Given the description of an element on the screen output the (x, y) to click on. 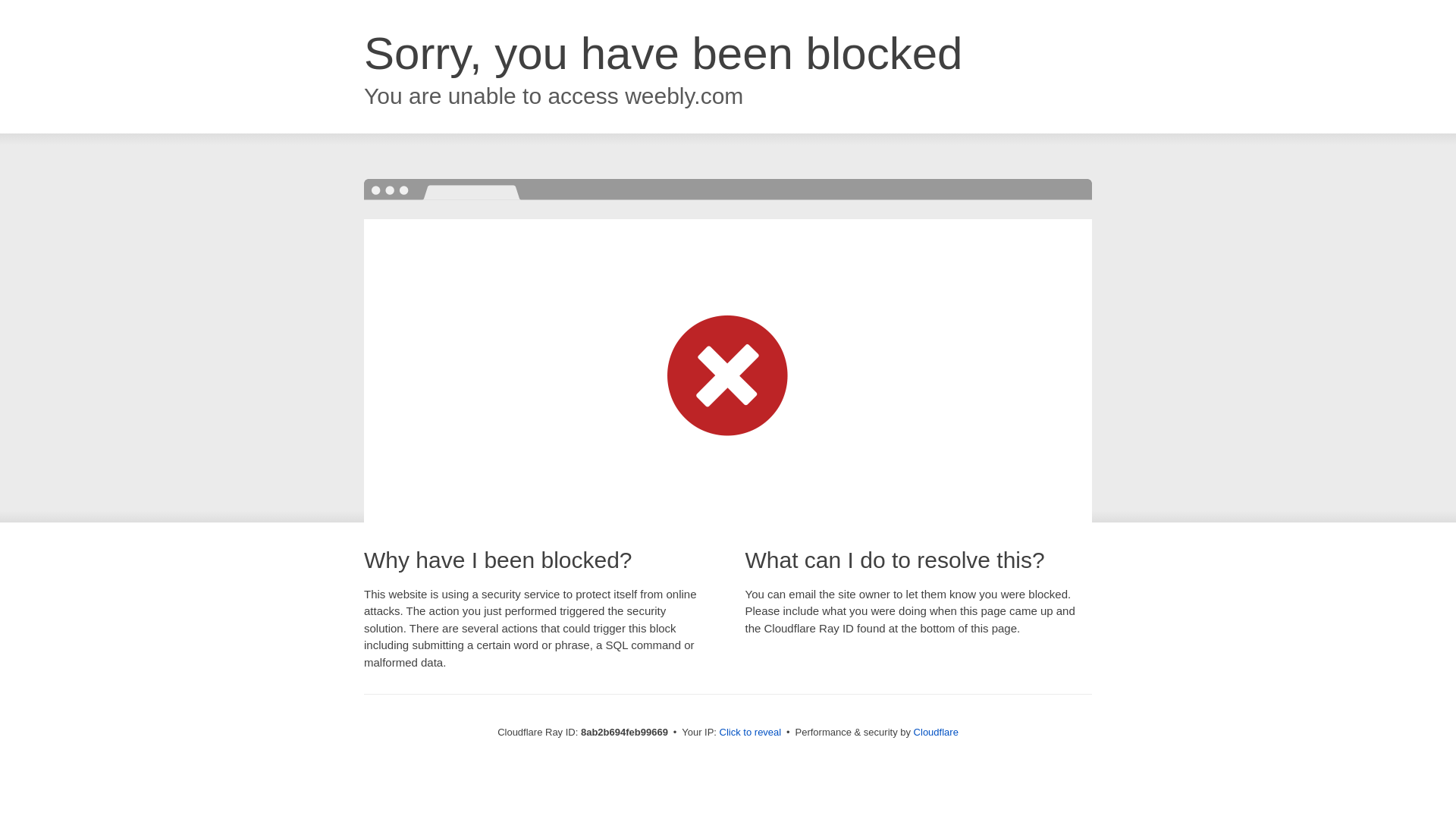
Click to reveal (750, 732)
Cloudflare (936, 731)
